Given the description of an element on the screen output the (x, y) to click on. 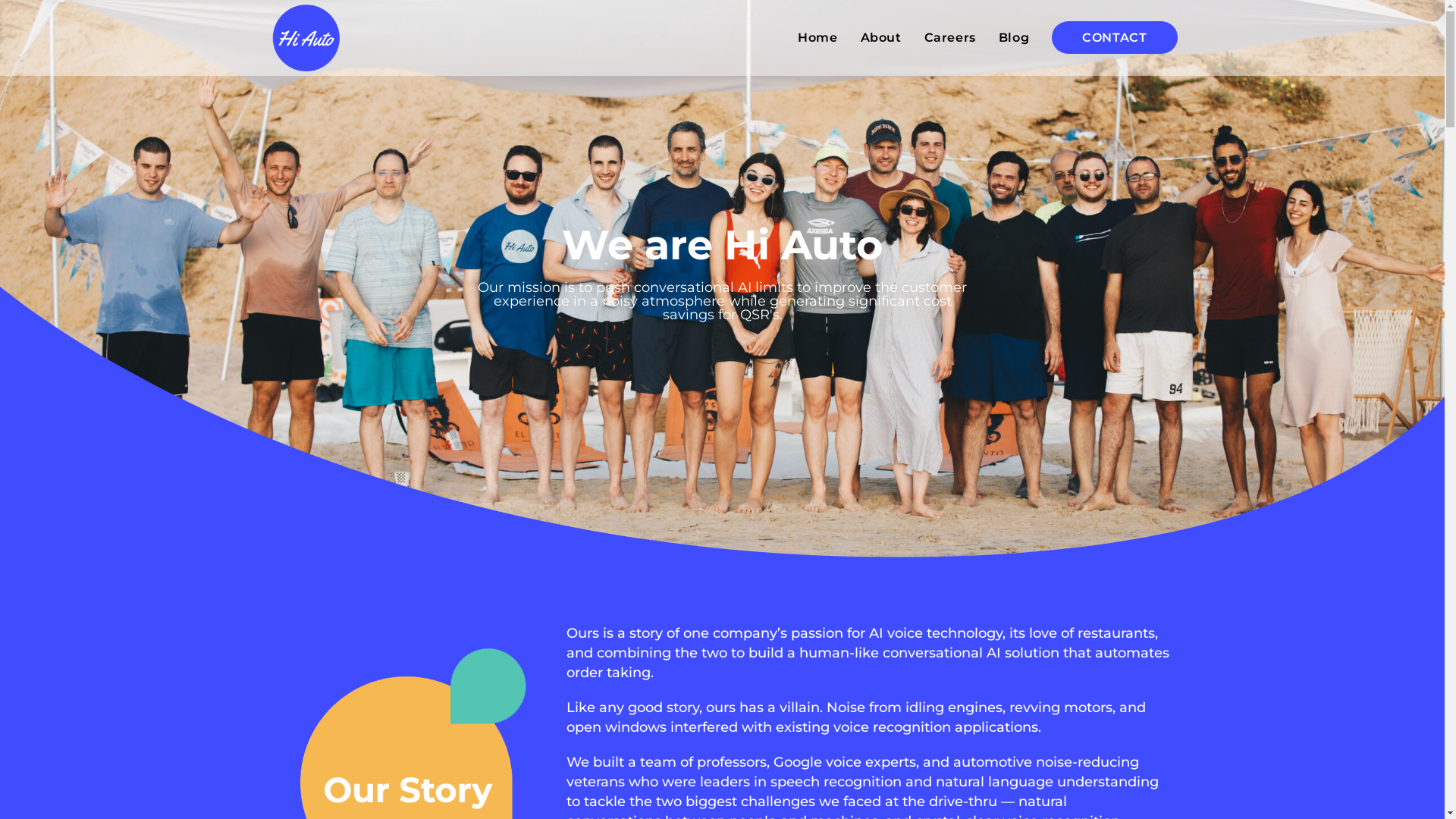
Blog Element type: text (1013, 37)
Home Element type: text (817, 37)
Careers Element type: text (950, 37)
About Element type: text (881, 37)
CONTACT Element type: text (1114, 37)
